Given the description of an element on the screen output the (x, y) to click on. 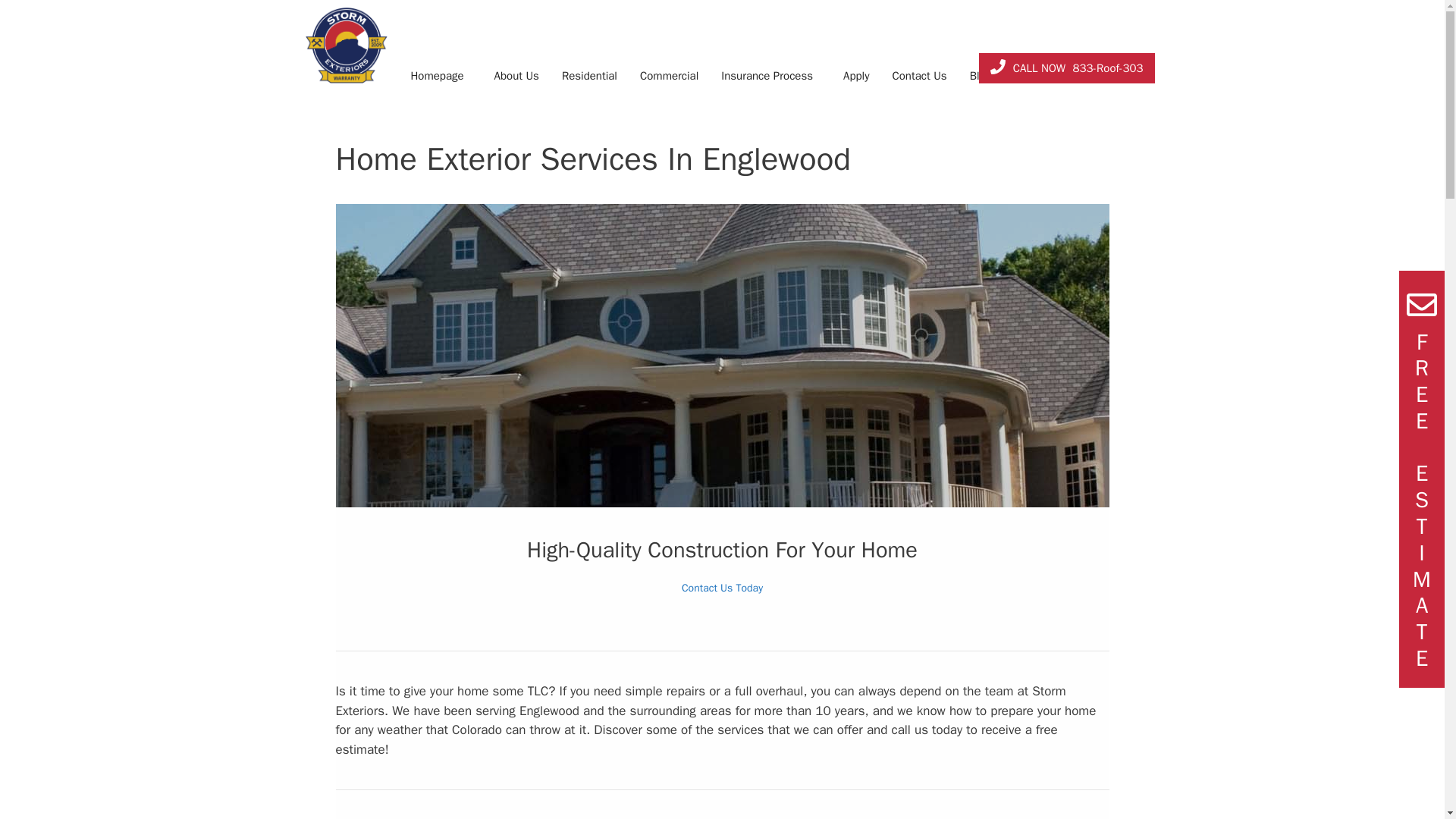
Contact Us Today (721, 587)
Insurance Process (767, 47)
Storm Exteriors (345, 45)
CALL NOW 833-Roof-303 (1066, 67)
